Given the description of an element on the screen output the (x, y) to click on. 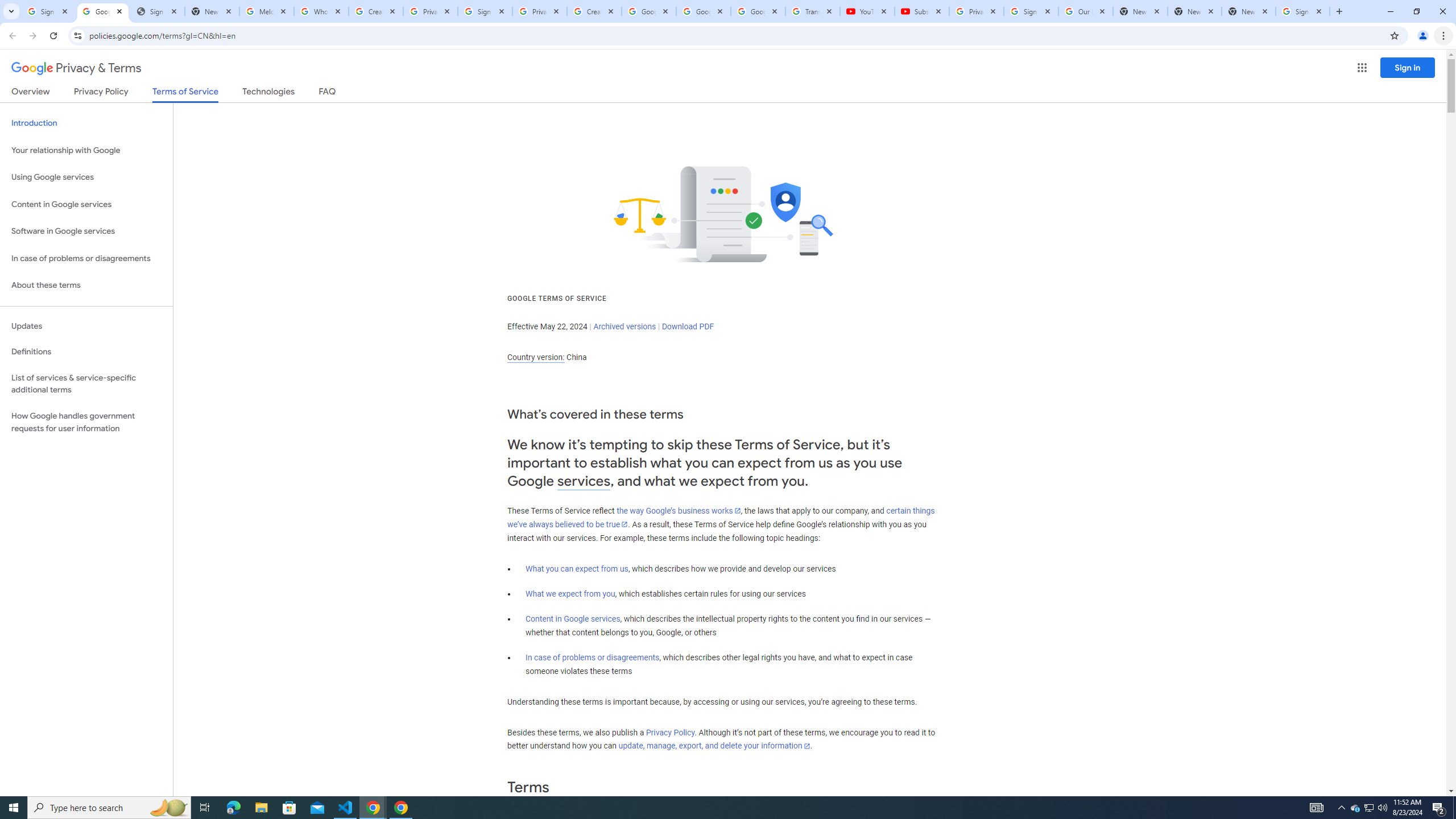
Google apps (1362, 67)
Definitions (86, 352)
Sign in (1407, 67)
What we expect from you (570, 593)
Address and search bar (735, 35)
Content in Google services (572, 618)
New Tab (1338, 11)
About these terms (86, 284)
Bookmark this tab (1393, 35)
Sign in - Google Accounts (48, 11)
Who is my administrator? - Google Account Help (320, 11)
Sign in - Google Accounts (1030, 11)
System (6, 6)
Privacy Policy (669, 732)
